Given the description of an element on the screen output the (x, y) to click on. 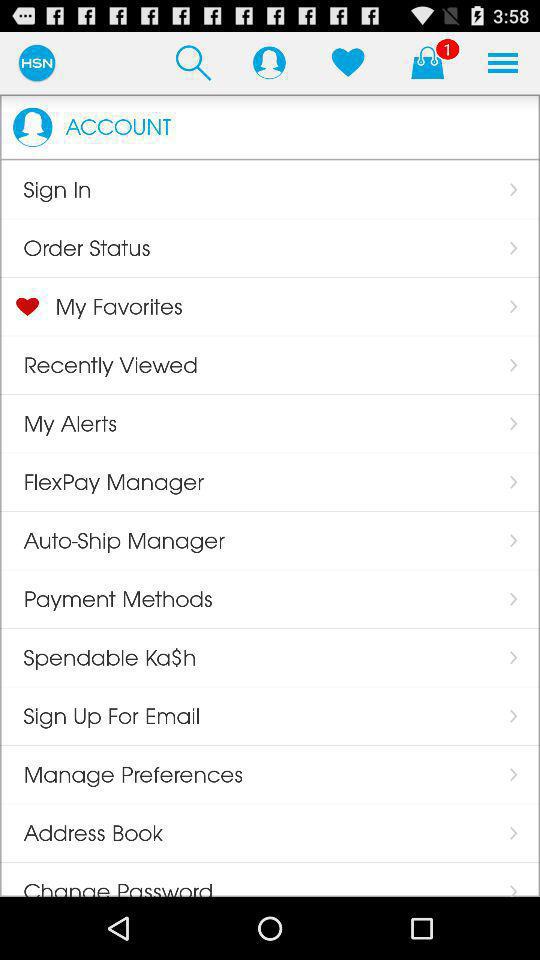
turn on item below sign up for app (121, 774)
